Given the description of an element on the screen output the (x, y) to click on. 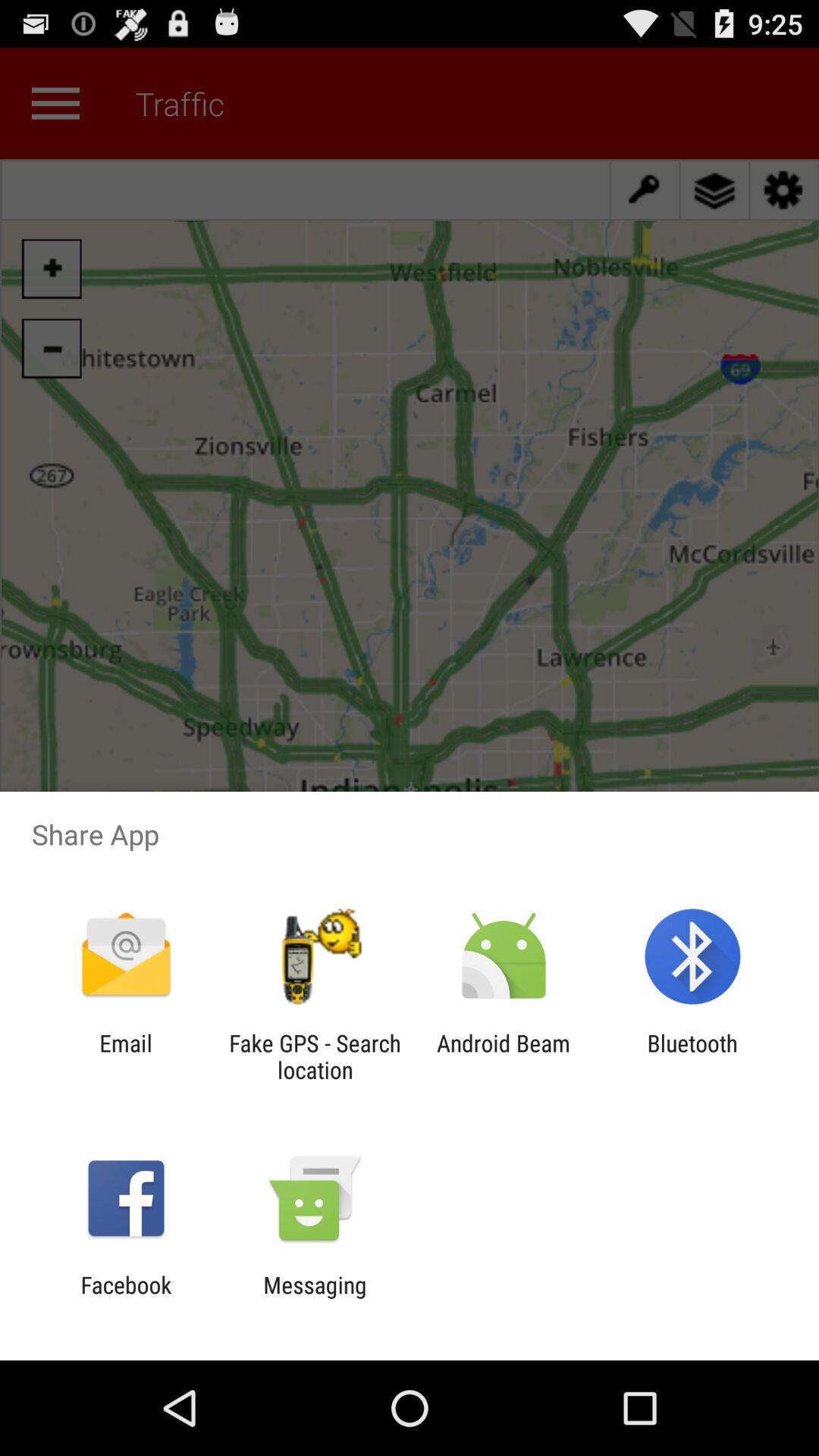
launch icon next to the android beam (692, 1056)
